Given the description of an element on the screen output the (x, y) to click on. 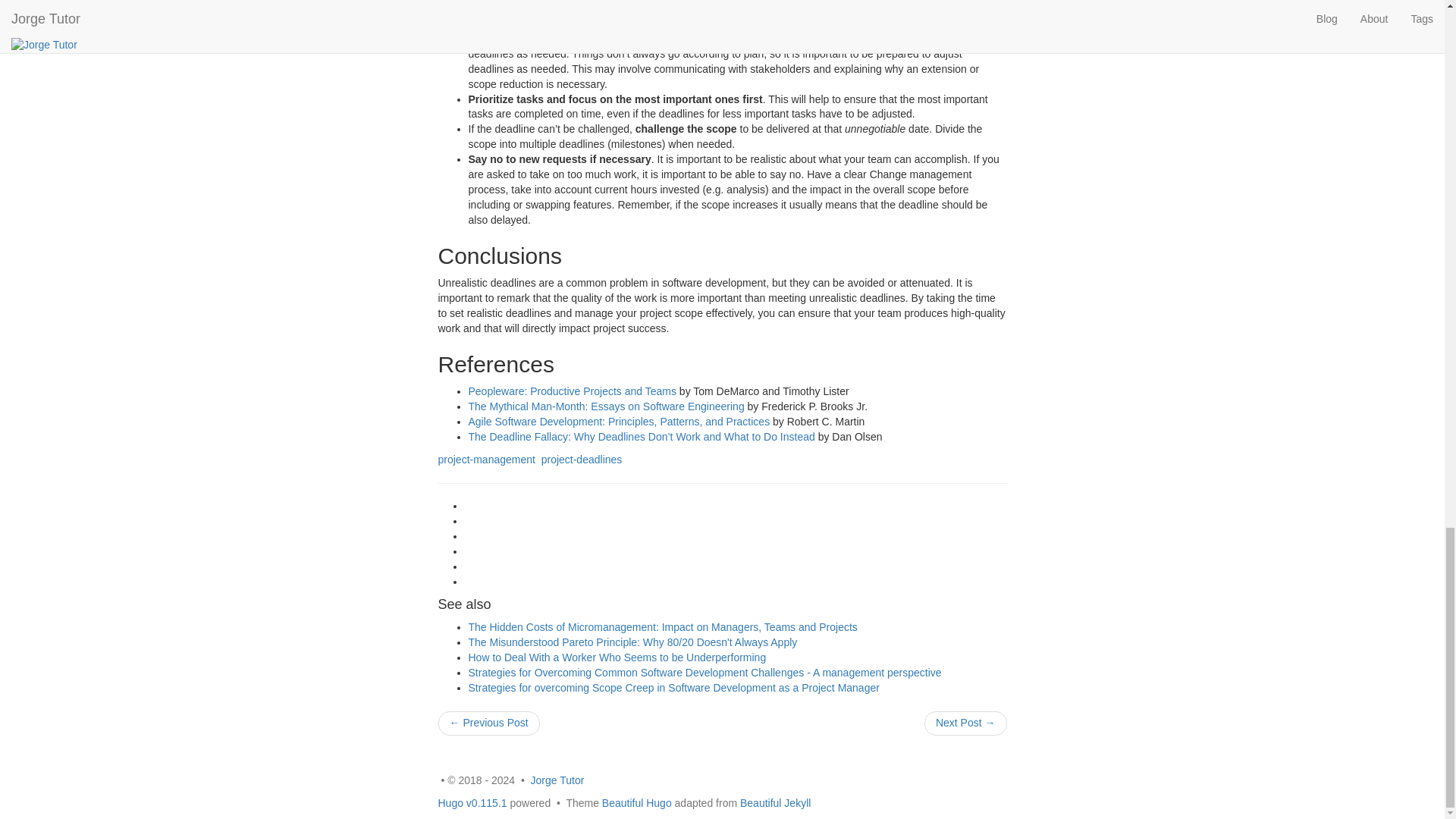
Peopleware: Productive Projects and Teams (572, 390)
Hugo v0.115.1 (472, 802)
How to Deal With a Worker Who Seems to be Underperforming (617, 657)
project-management (486, 459)
The Mythical Man-Month: Essays on Software Engineering (606, 406)
